Given the description of an element on the screen output the (x, y) to click on. 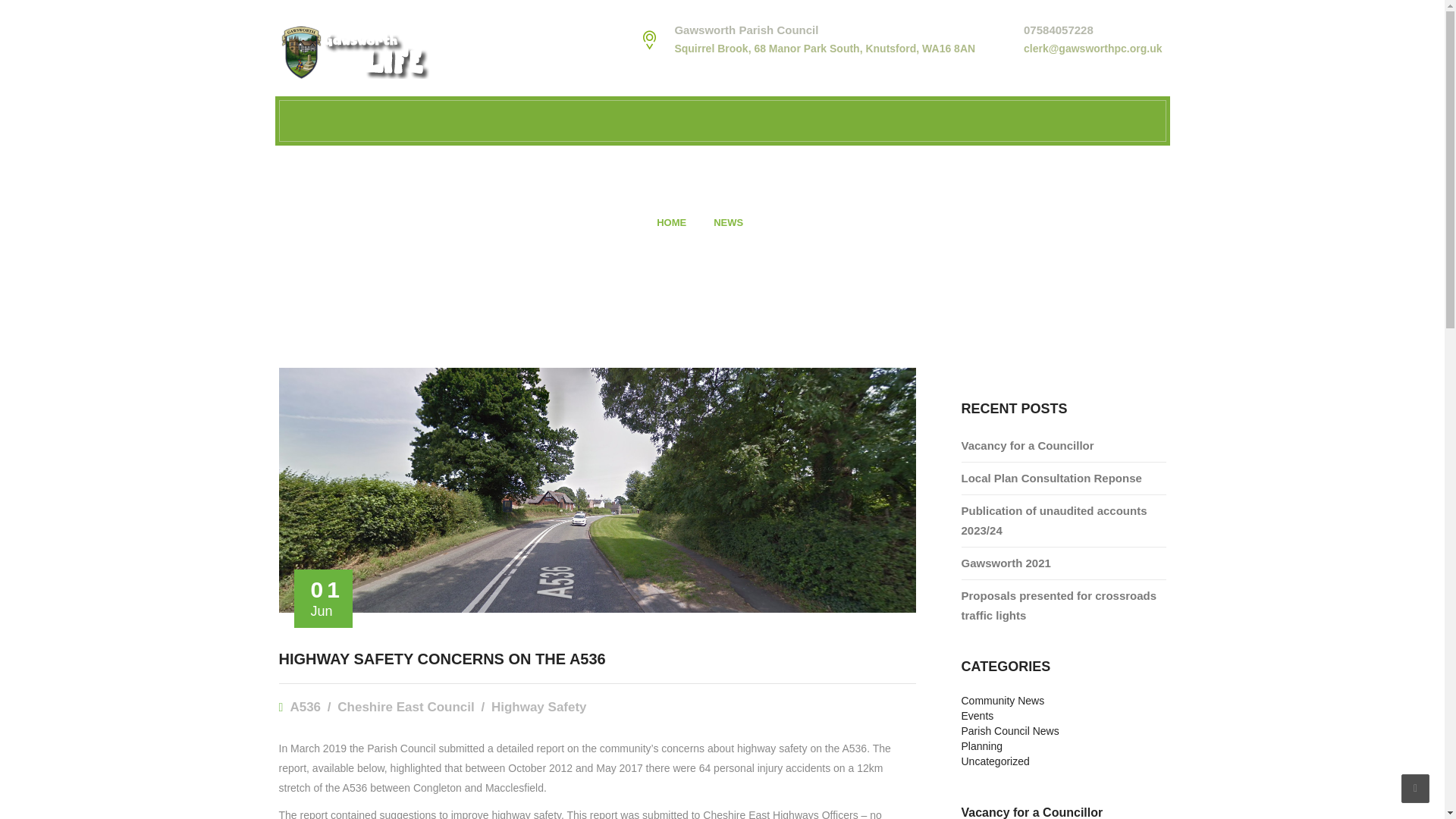
HOME (670, 222)
Cheshire East Council (412, 707)
Highway Safety (539, 707)
Go to Home. (670, 222)
A536 (311, 707)
HIGHWAY SAFETY CONCERNS ON THE A536 (442, 658)
Go to News. (727, 222)
NEWS (727, 222)
